Given the description of an element on the screen output the (x, y) to click on. 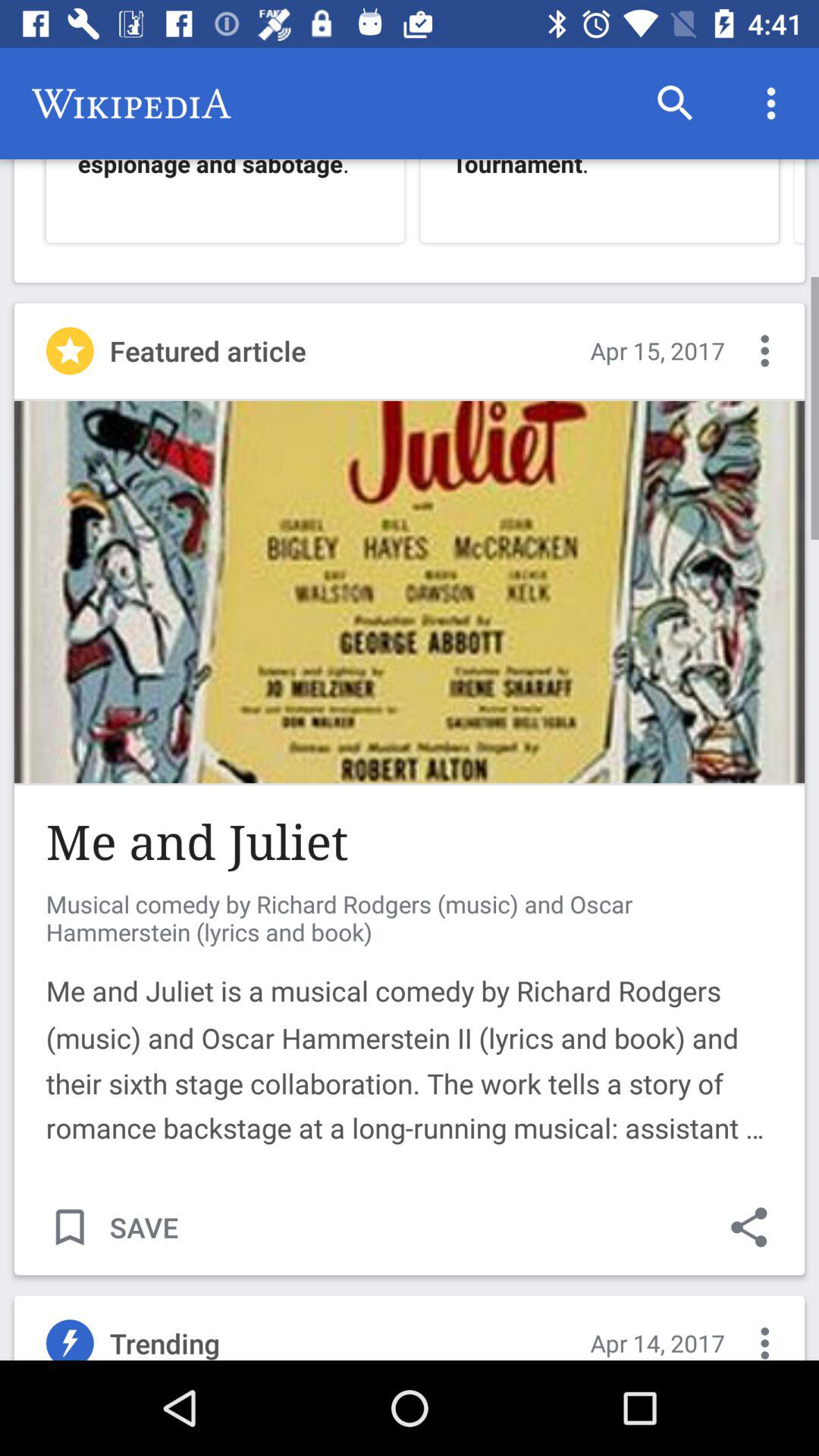
select the text which is below me and juliet (409, 1034)
